Given the description of an element on the screen output the (x, y) to click on. 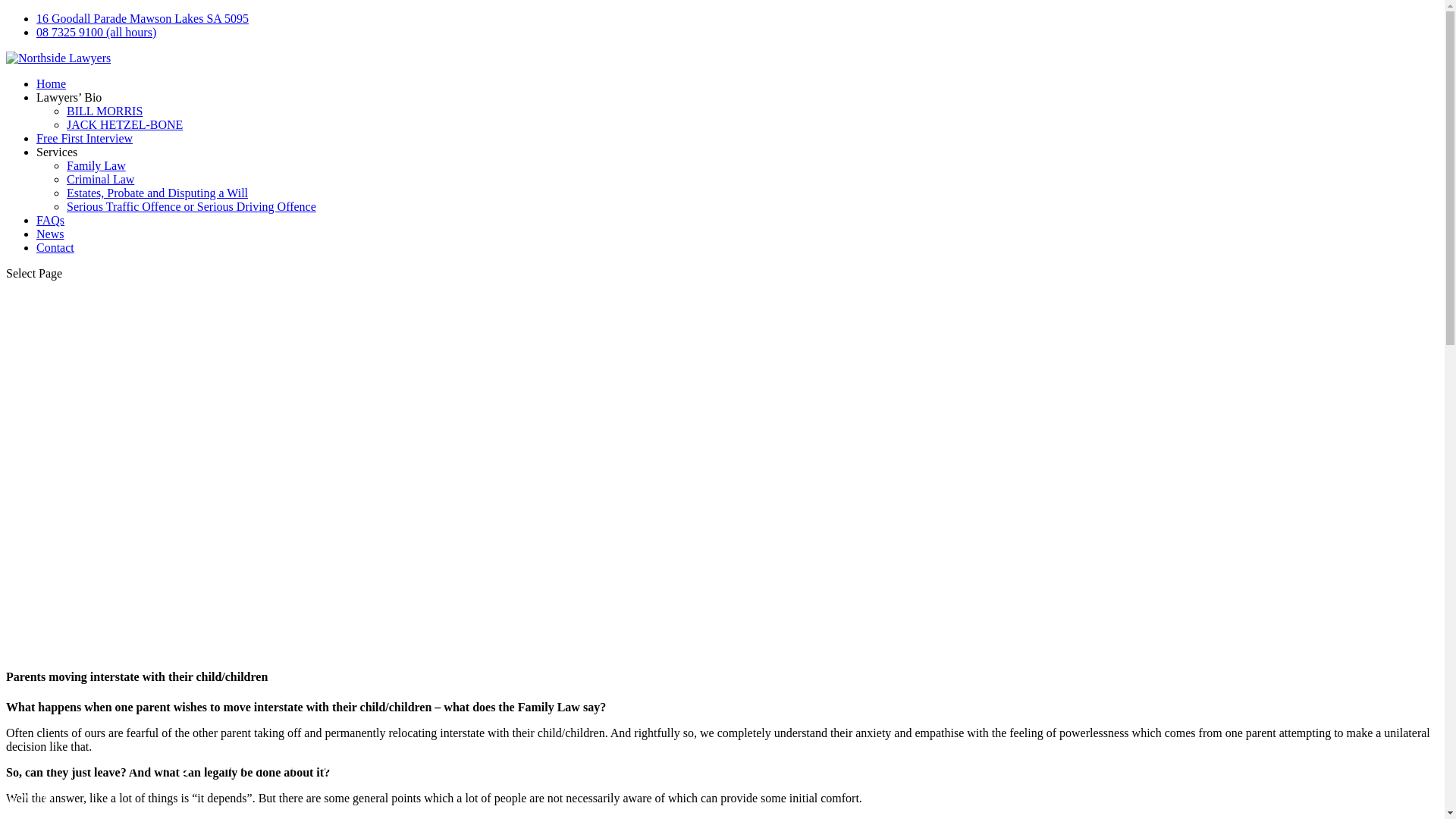
08 7325 9100 (all hours) Element type: text (96, 31)
Estates, Probate and Disputing a Will Element type: text (156, 192)
Services Element type: text (56, 151)
Serious Traffic Offence or Serious Driving Offence Element type: text (191, 206)
JACK HETZEL-BONE Element type: text (124, 124)
Criminal Law Element type: text (100, 178)
Contact Element type: text (55, 247)
Free First Interview Element type: text (84, 137)
Family Law Element type: text (95, 165)
16 Goodall Parade Mawson Lakes SA 5095 Element type: text (142, 18)
News Element type: text (49, 233)
FAQs Element type: text (50, 219)
Home Element type: text (50, 83)
BILL MORRIS Element type: text (104, 110)
